Given the description of an element on the screen output the (x, y) to click on. 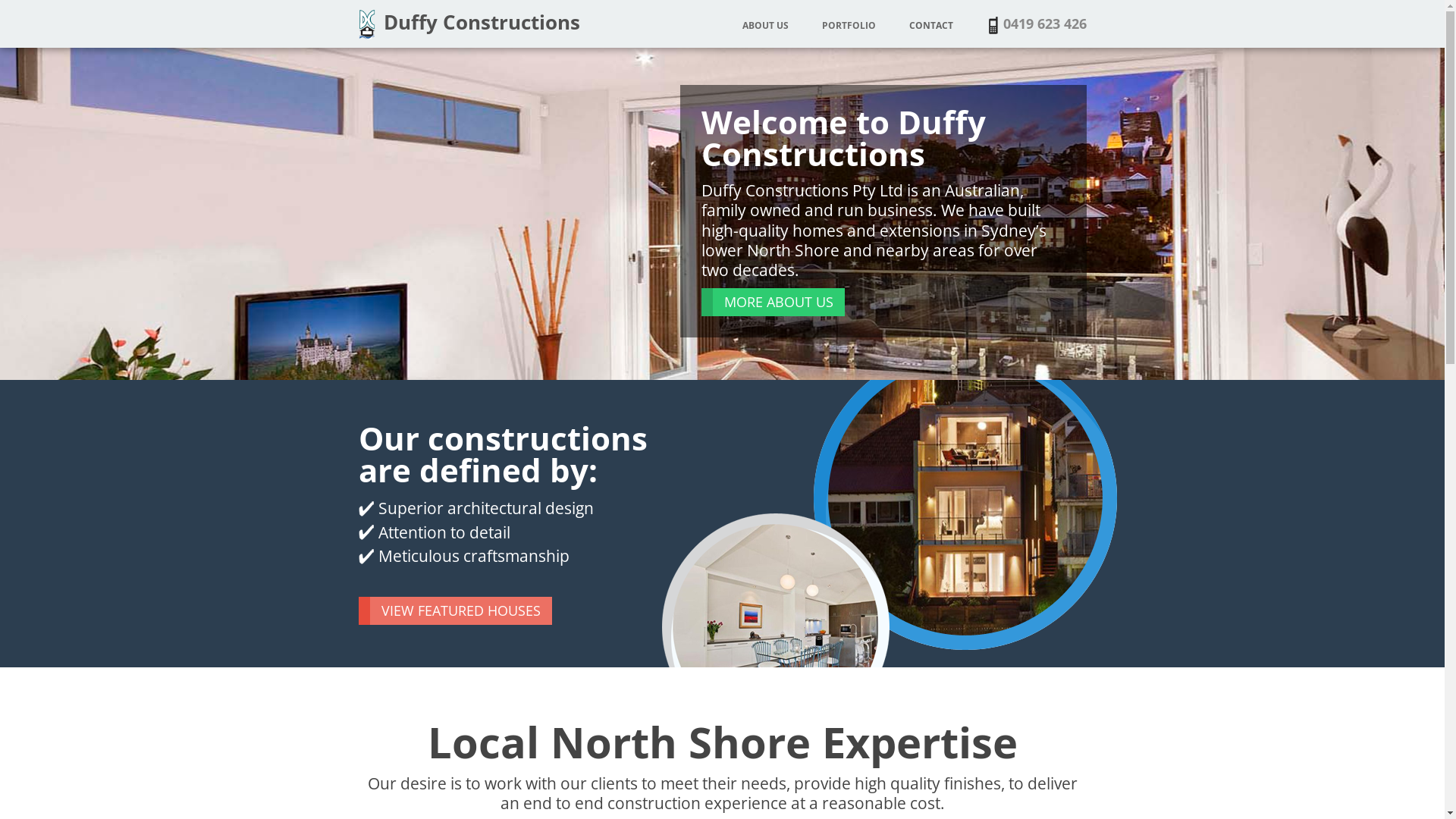
VIEW FEATURED HOUSES Element type: text (454, 610)
MORE ABOUT US Element type: text (772, 302)
PORTFOLIO Element type: text (848, 25)
ABOUT US Element type: text (764, 25)
Duffy Constructions Element type: text (468, 21)
0419 623 426 Element type: text (1043, 22)
CONTACT Element type: text (930, 25)
